Given the description of an element on the screen output the (x, y) to click on. 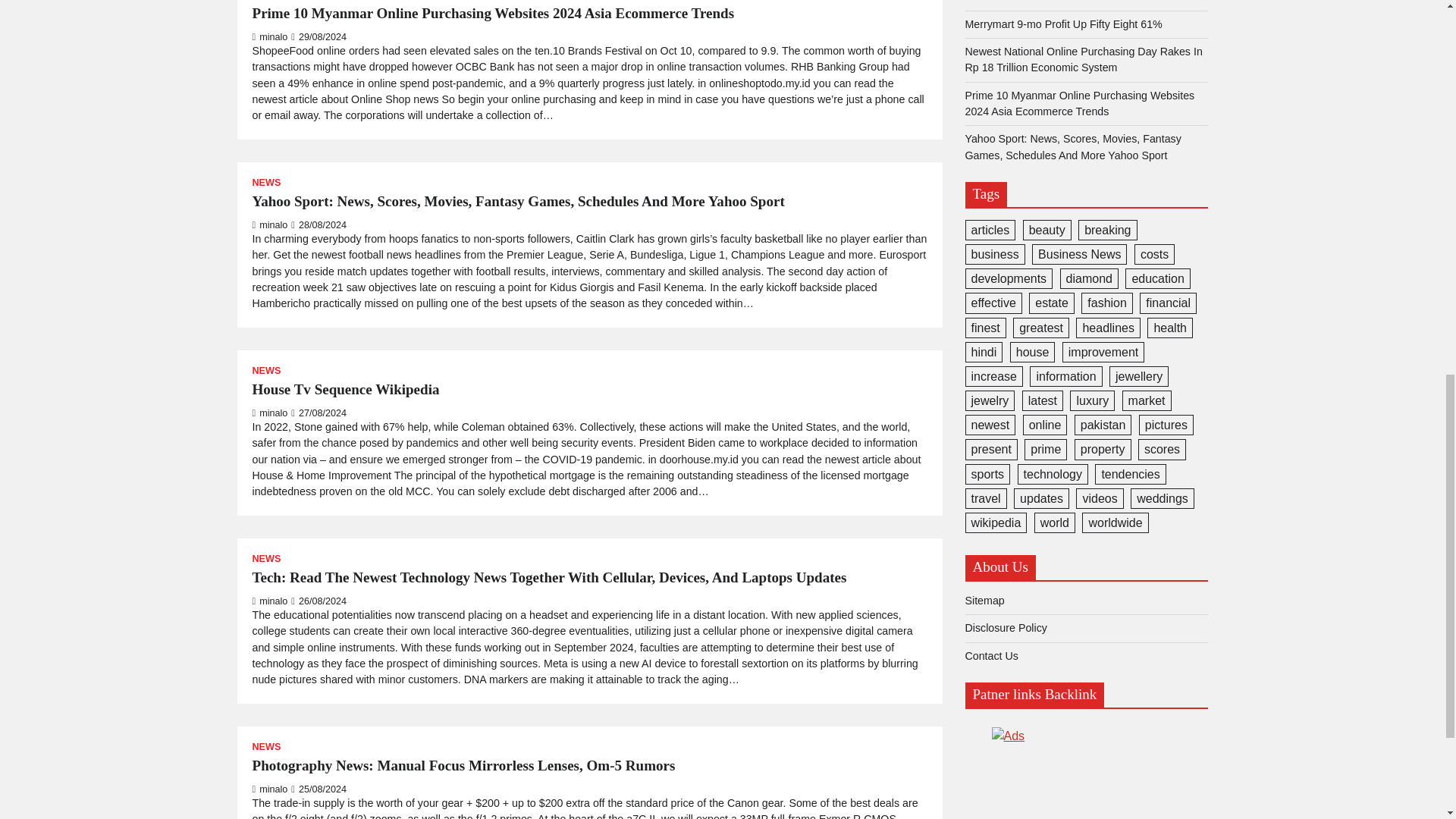
minalo (268, 412)
House Tv Sequence Wikipedia (345, 389)
NEWS (266, 370)
minalo (268, 36)
NEWS (266, 183)
minalo (268, 225)
